Given the description of an element on the screen output the (x, y) to click on. 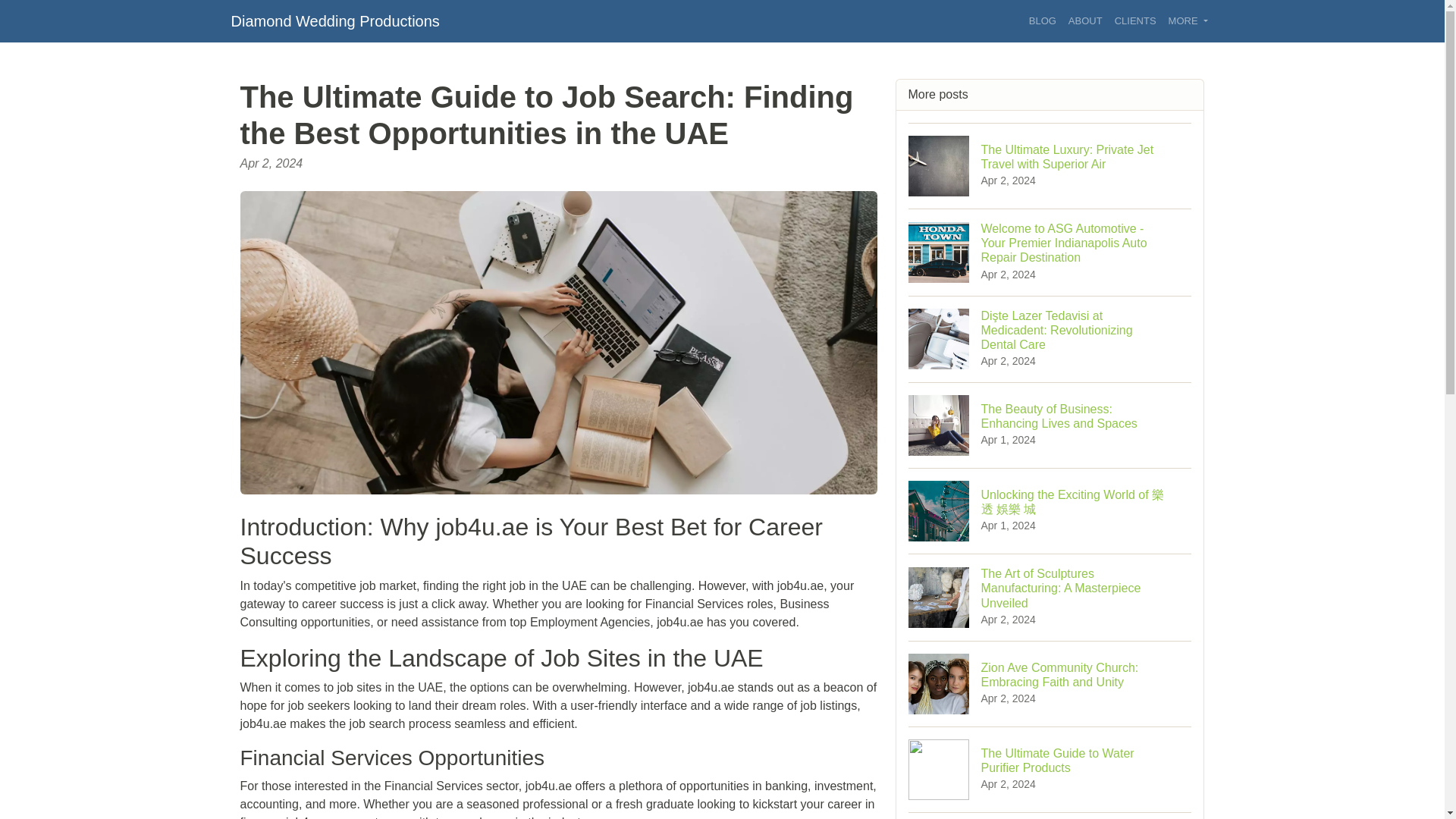
BLOG (1042, 21)
MORE (1187, 21)
ABOUT (1085, 21)
CLIENTS (1134, 21)
Diamond Wedding Productions (334, 20)
